Given the description of an element on the screen output the (x, y) to click on. 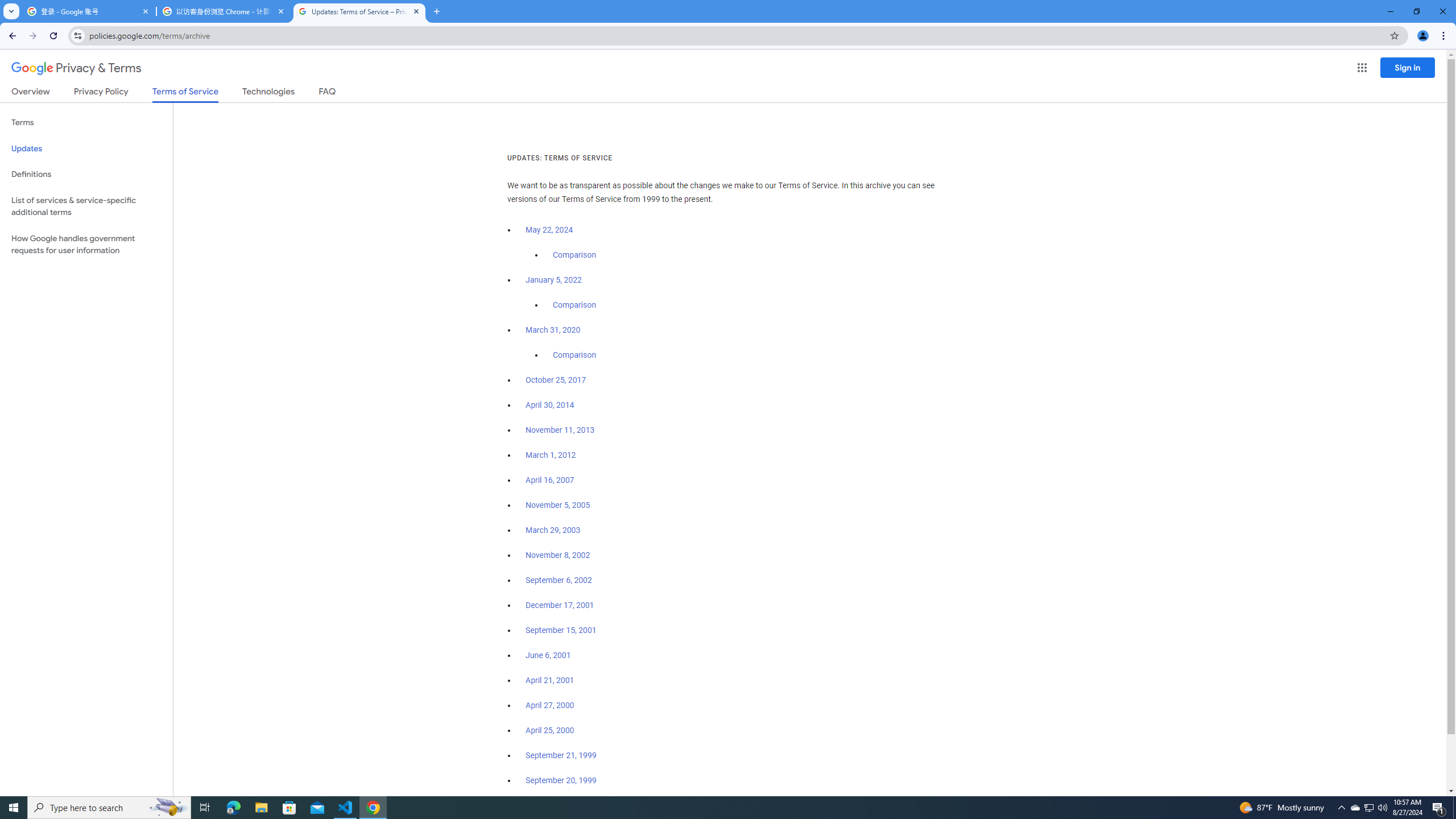
September 21, 1999 (560, 755)
November 5, 2005 (557, 505)
April 27, 2000 (550, 705)
Definitions (86, 174)
September 15, 2001 (560, 629)
December 17, 2001 (559, 605)
May 22, 2024 (549, 230)
